Given the description of an element on the screen output the (x, y) to click on. 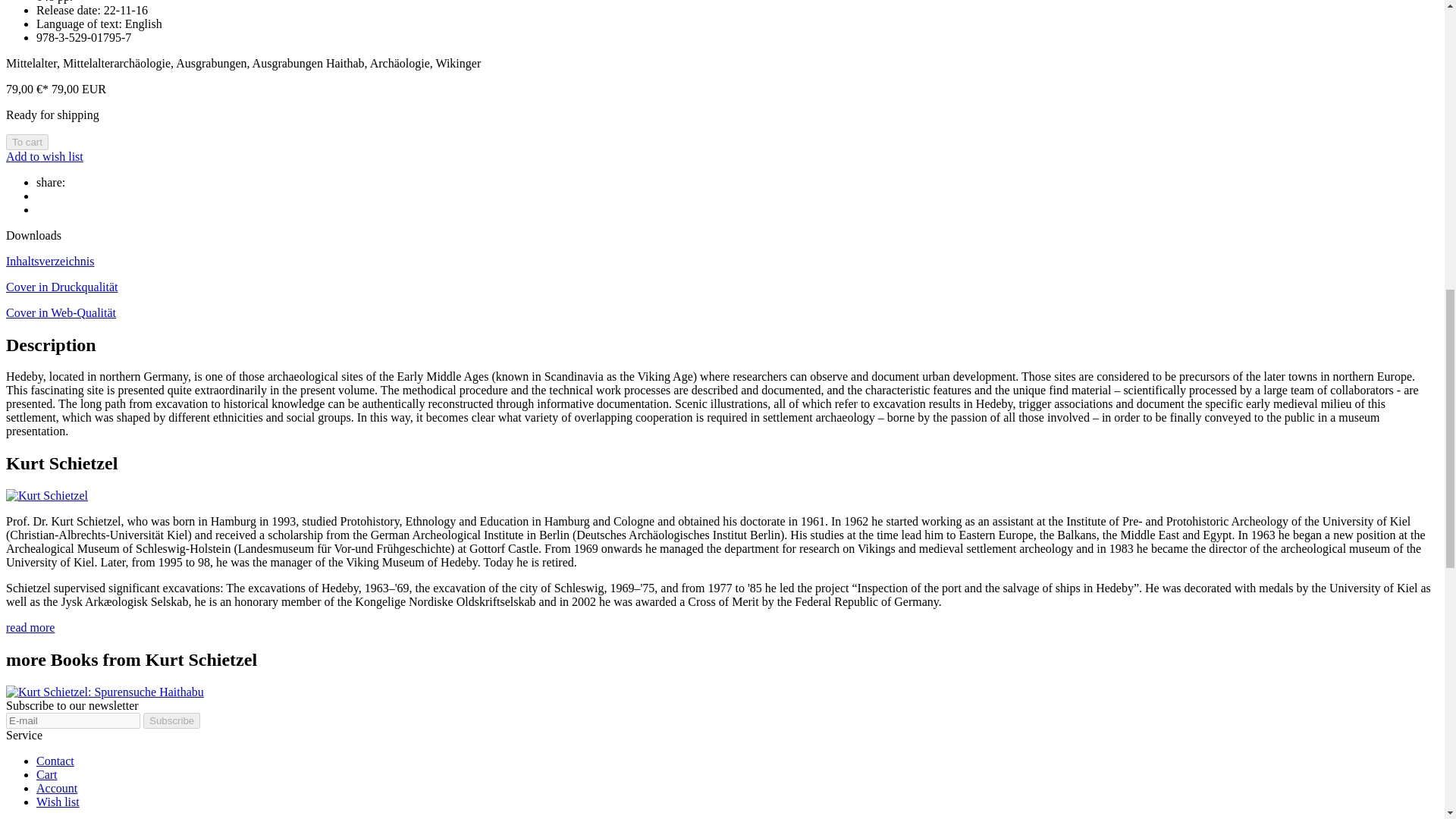
Kurt Schietzel (46, 495)
Add to wish list (43, 155)
To cart (26, 141)
